Given the description of an element on the screen output the (x, y) to click on. 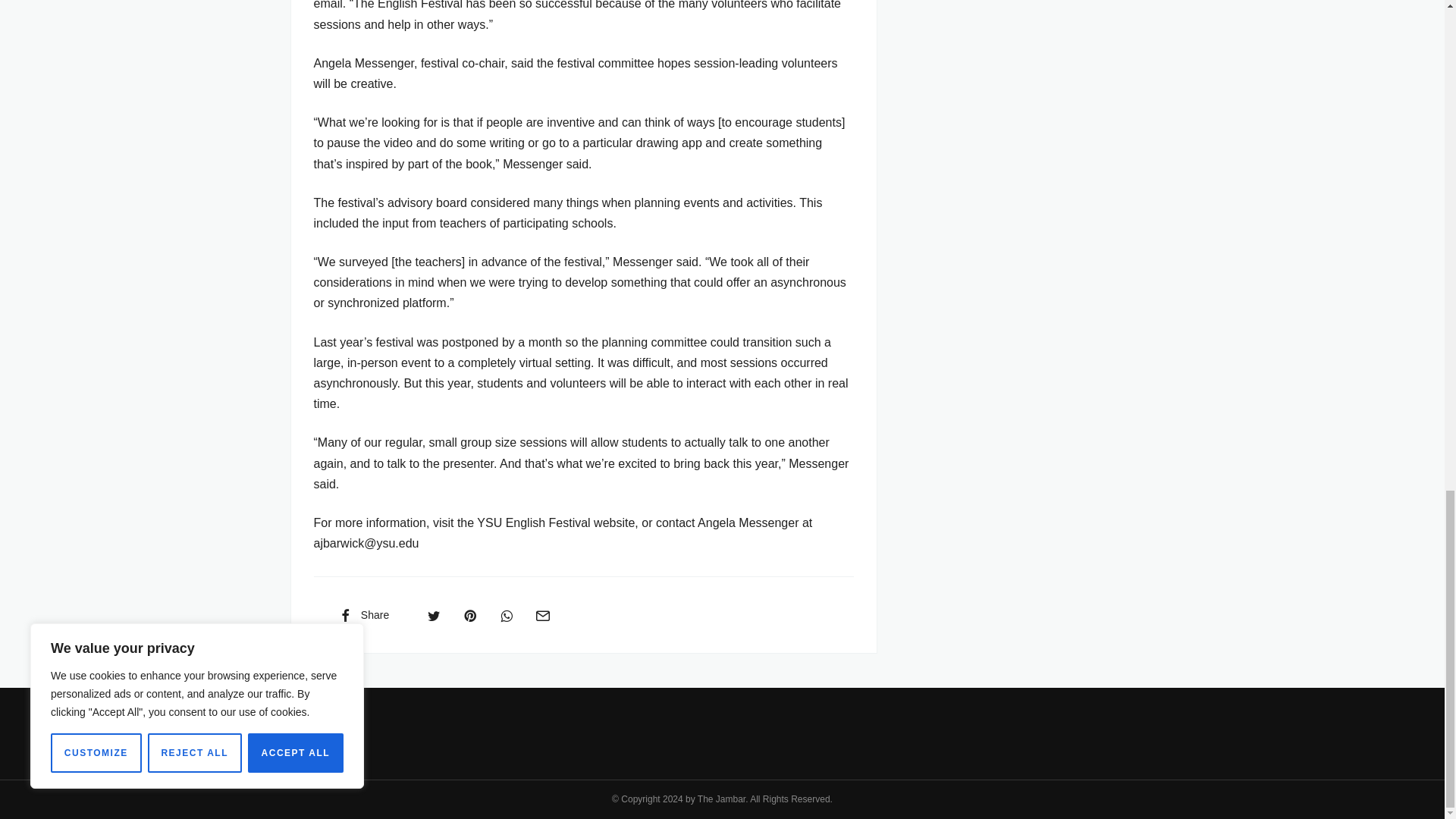
Pin this Post (469, 614)
Share via Email (542, 614)
Share on Facebook (363, 614)
Share on Whatsapp (506, 614)
Share on Twitter (433, 614)
